Given the description of an element on the screen output the (x, y) to click on. 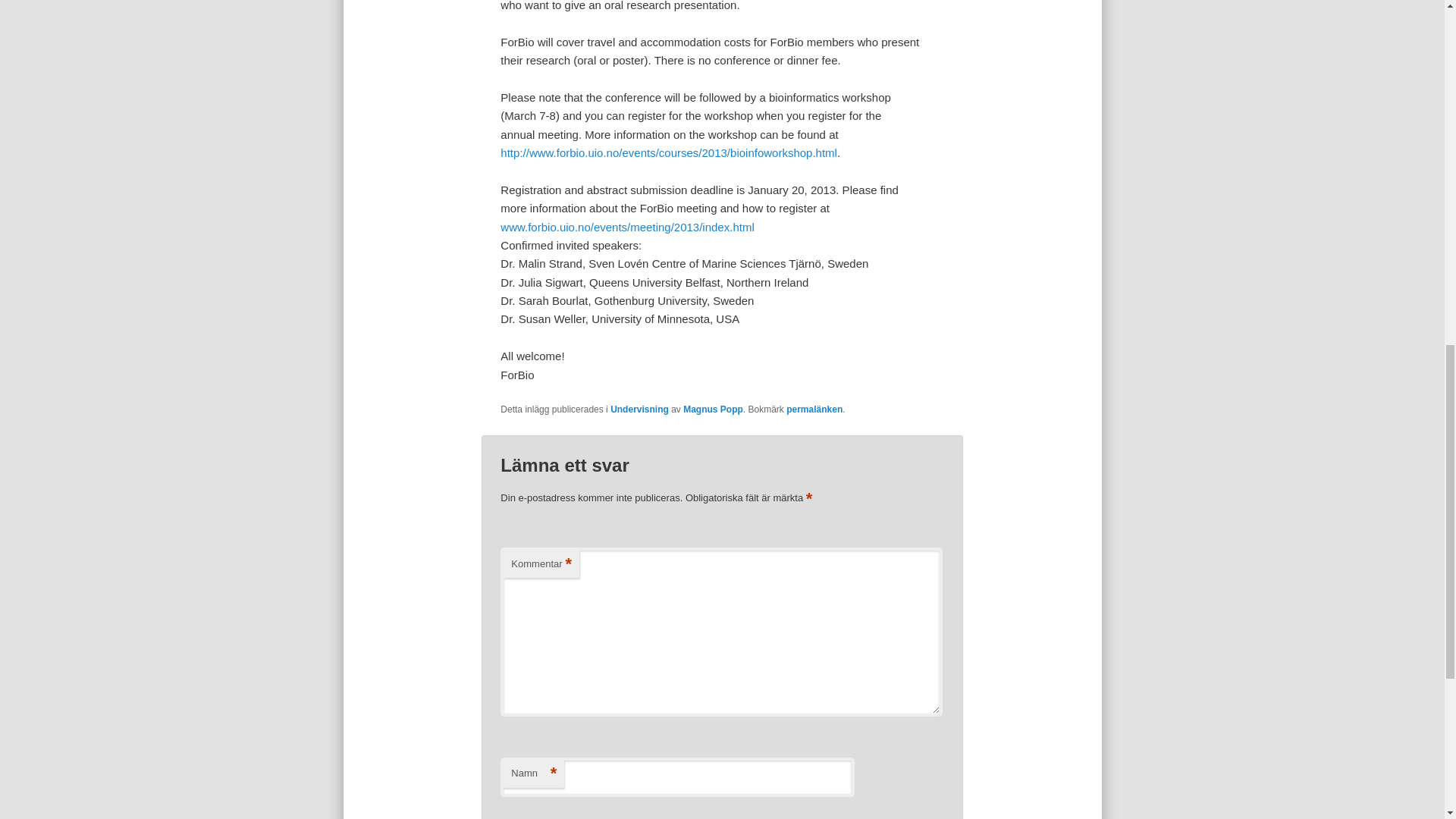
Permalink to  (814, 409)
